Given the description of an element on the screen output the (x, y) to click on. 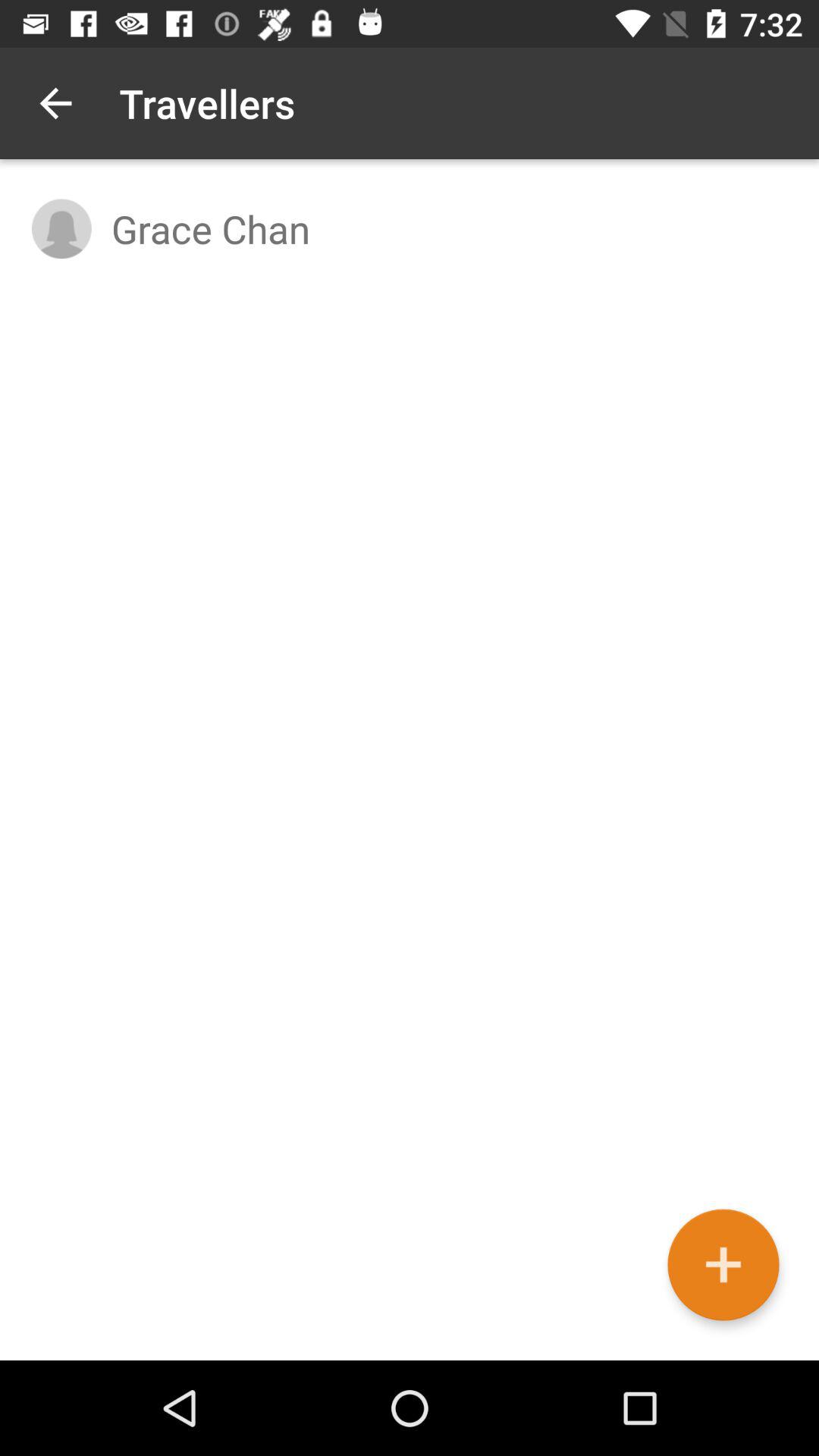
tap item next to grace chan (61, 228)
